Given the description of an element on the screen output the (x, y) to click on. 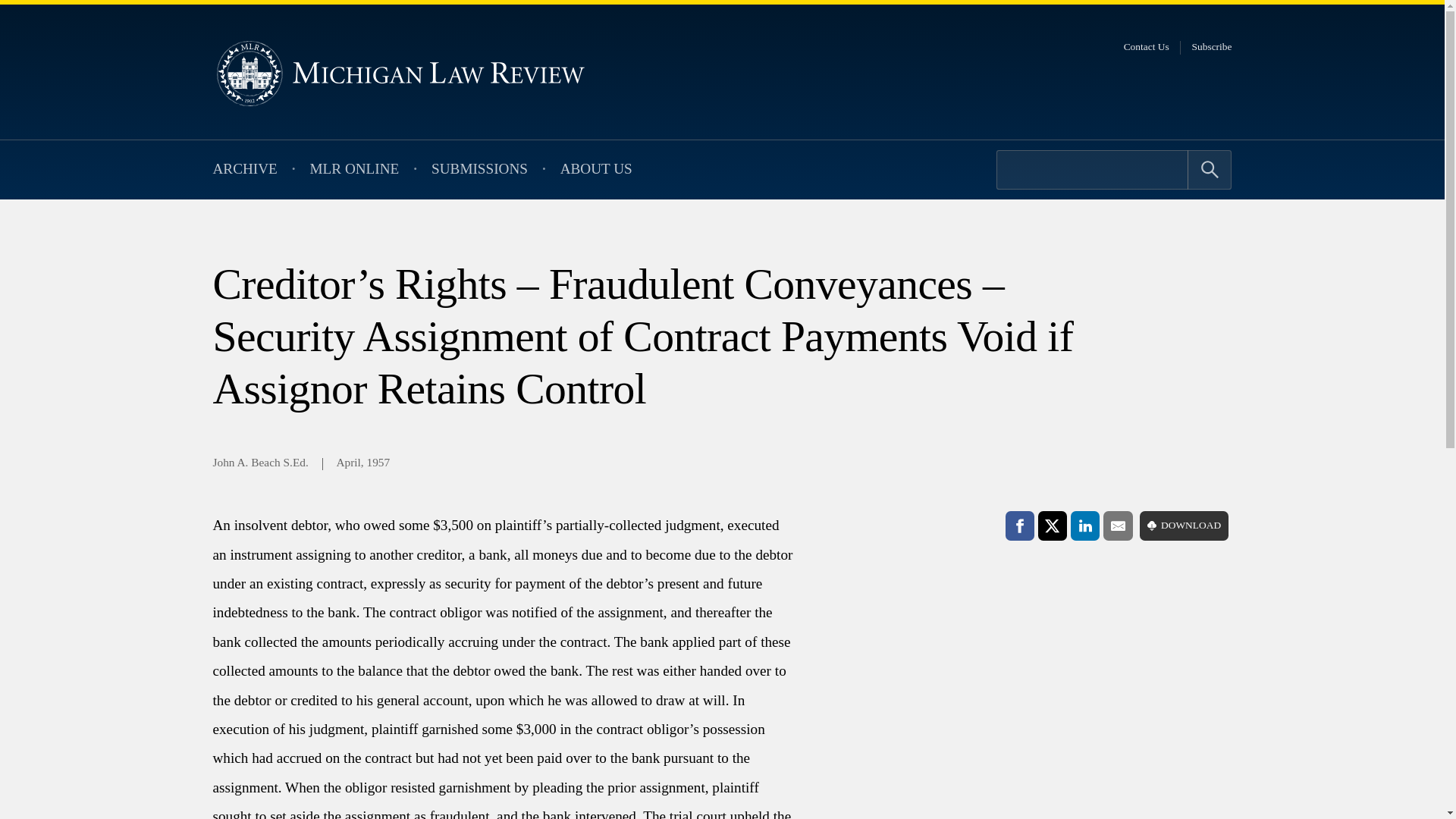
Subscribe (1211, 46)
SUBMISSIONS (478, 169)
Facebook (1019, 525)
Search (1209, 169)
ABOUT US (595, 169)
E-Mail (1117, 525)
Contact Us (1146, 46)
LinkedIn (1084, 525)
DOWNLOAD (1184, 525)
ARCHIVE (244, 169)
